Given the description of an element on the screen output the (x, y) to click on. 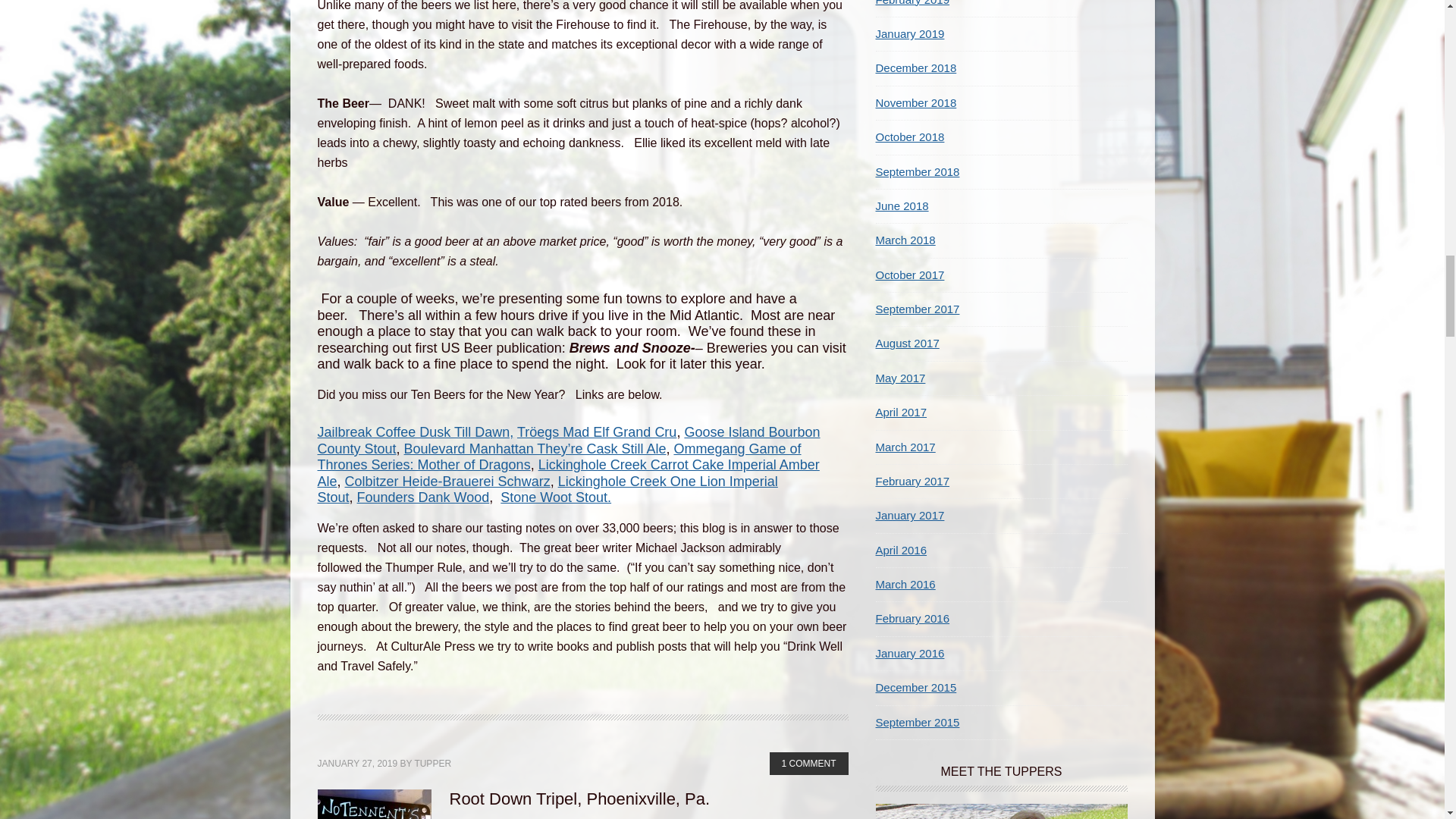
Colbitzer Heide-Brauerei Schwarz (447, 481)
TUPPER (432, 763)
Ommegang Game of Thrones Series: Mother of Dragons (558, 457)
Jailbreak Coffee Dusk Till Dawn, (415, 432)
Goose Island Bourbon County Stout (568, 440)
Stone Woot Stout. (555, 497)
1 COMMENT (807, 763)
Lickinghole Creek Carrot Cake Imperial Amber Ale (567, 472)
Lickinghole Creek One Lion Imperial Stout (547, 490)
Founders Dank Wood (422, 497)
